Given the description of an element on the screen output the (x, y) to click on. 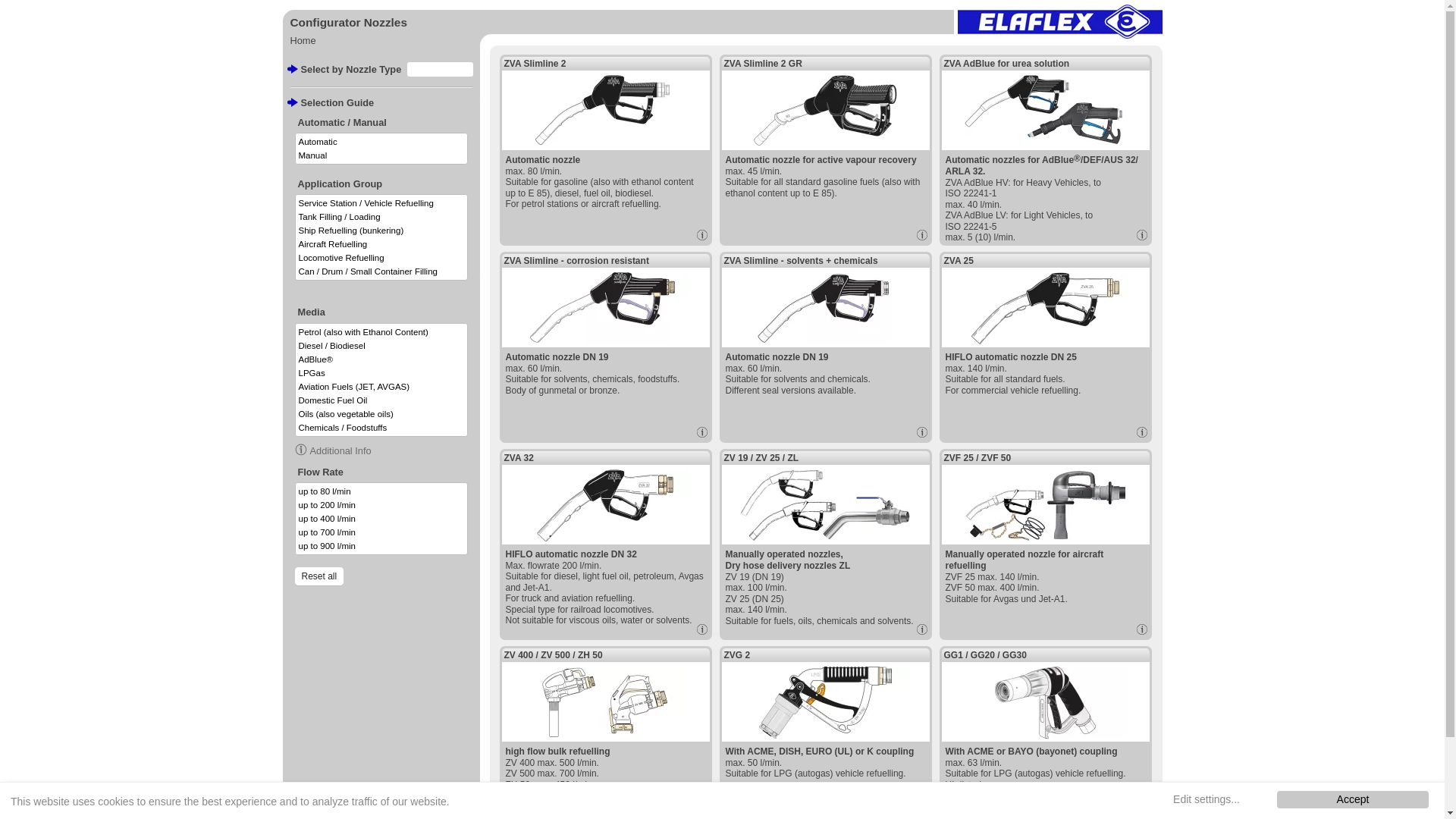
Aviation Fuels (JET, AVGAS) Element type: text (381, 386)
Domestic Fuel Oil Element type: text (381, 400)
Can / Drum / Small Container Filling Element type: text (381, 271)
up to 200 l/min Element type: text (381, 504)
Oils (also vegetable oils) Element type: text (381, 413)
Edit settings... Element type: text (1206, 799)
up to 900 l/min Element type: text (381, 545)
Aircraft Refuelling Element type: text (381, 243)
Petrol (also with Ethanol Content) Element type: text (381, 331)
Locomotive Refuelling Element type: text (381, 257)
Accept Element type: text (1352, 799)
Manual Element type: text (381, 155)
Diesel / Biodiesel Element type: text (381, 345)
up to 80 l/min Element type: text (381, 491)
Service Station / Vehicle Refuelling Element type: text (381, 202)
Automatic Element type: text (381, 141)
Reset all Element type: text (318, 576)
up to 400 l/min Element type: text (381, 518)
up to 700 l/min Element type: text (381, 532)
Tank Filling / Loading Element type: text (381, 216)
Home Element type: text (302, 40)
LPGas Element type: text (381, 372)
Ship Refuelling (bunkering) Element type: text (381, 230)
